Given the description of an element on the screen output the (x, y) to click on. 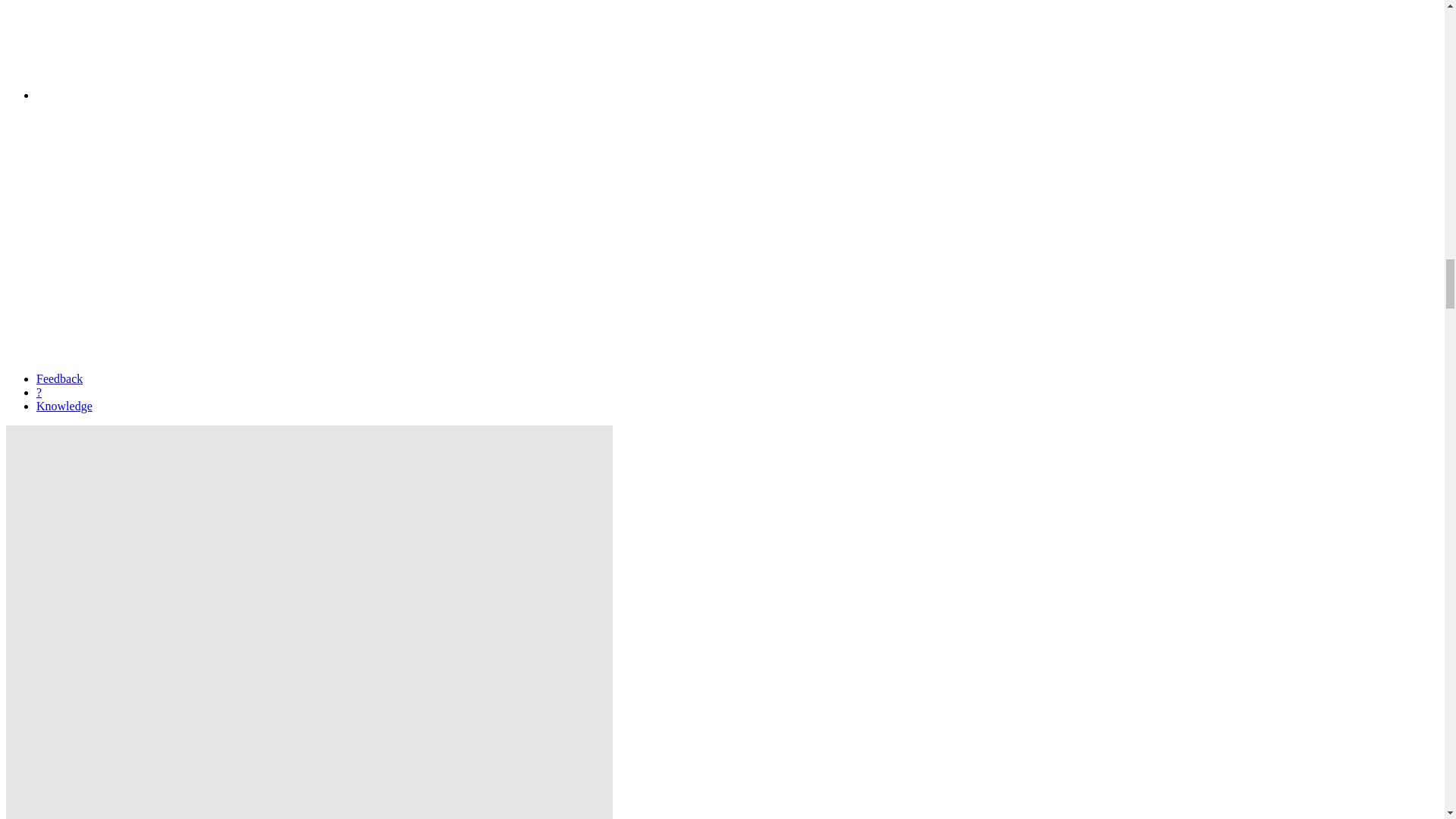
? (39, 391)
Knowledge (64, 405)
Feedback (59, 378)
